Given the description of an element on the screen output the (x, y) to click on. 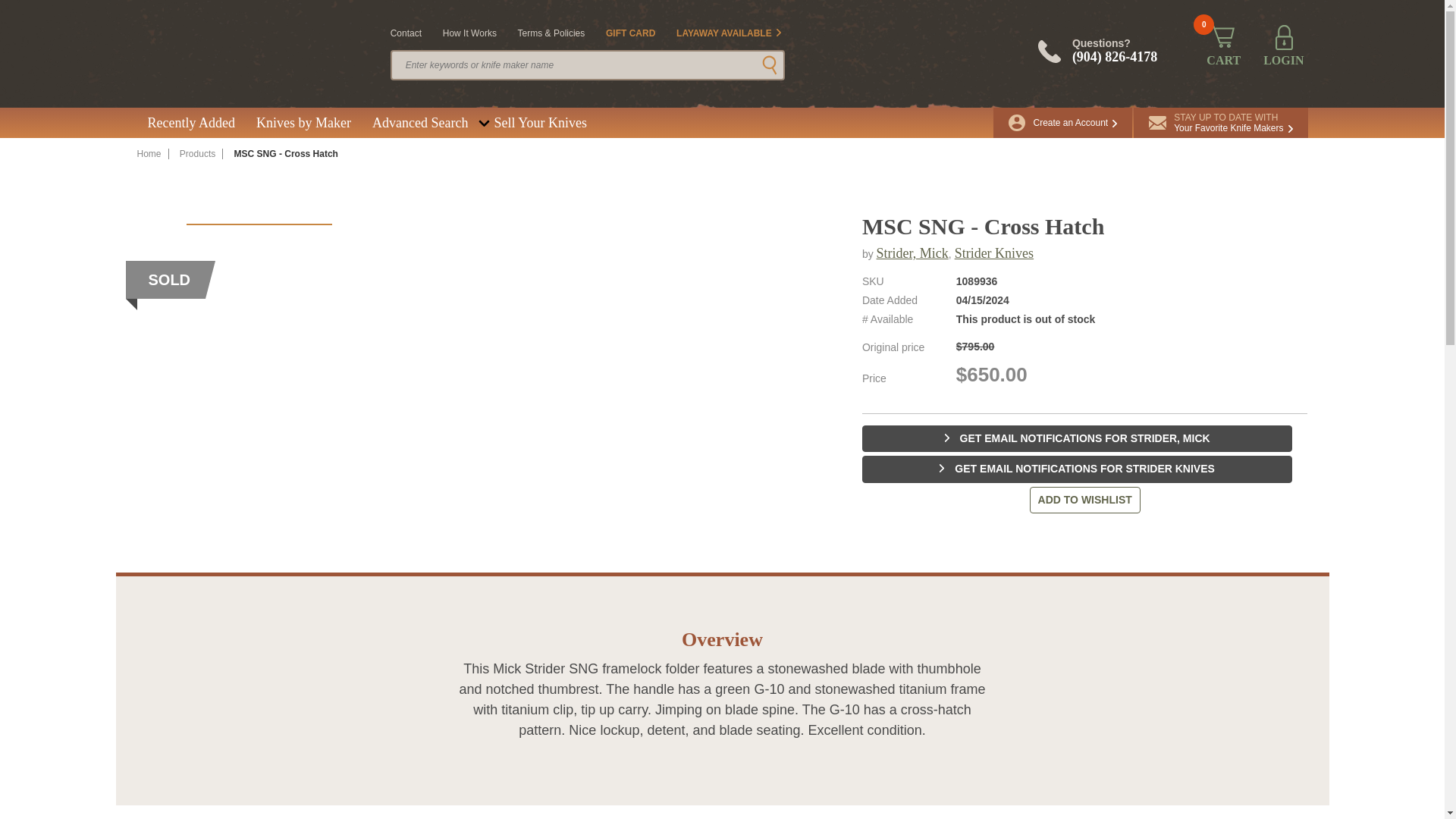
Knives by Maker (303, 122)
GIFT CARD (630, 32)
Contact (406, 32)
Advanced Search (420, 122)
LAYAWAY AVAILABLE (1220, 122)
Recently Added (728, 32)
Sell Your Knives (190, 122)
How It Works (537, 122)
Create an Account (469, 32)
